Given the description of an element on the screen output the (x, y) to click on. 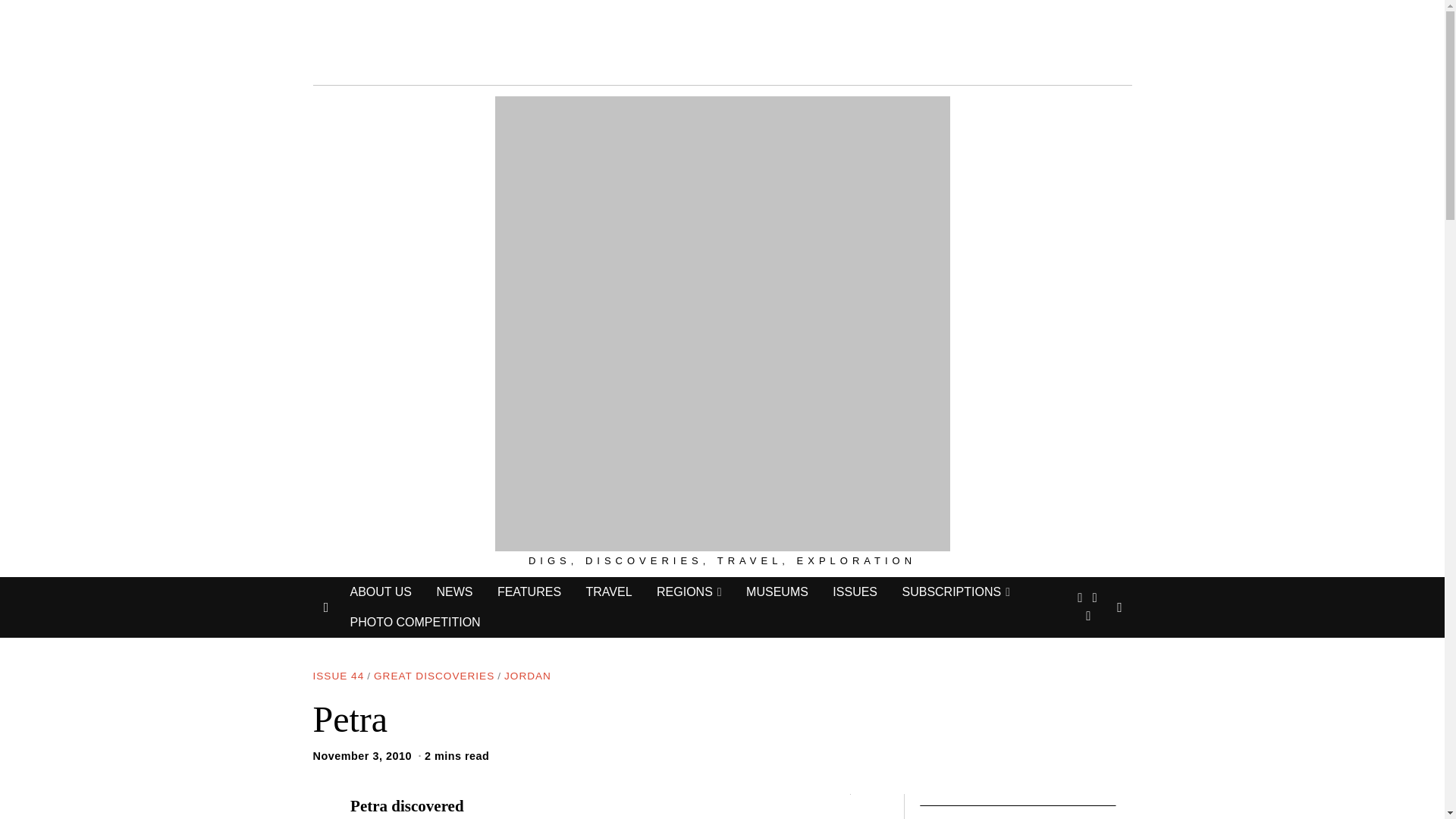
REGIONS (689, 592)
TRAVEL (608, 592)
FEATURES (529, 592)
ABOUT US (380, 592)
NEWS (454, 592)
